Given the description of an element on the screen output the (x, y) to click on. 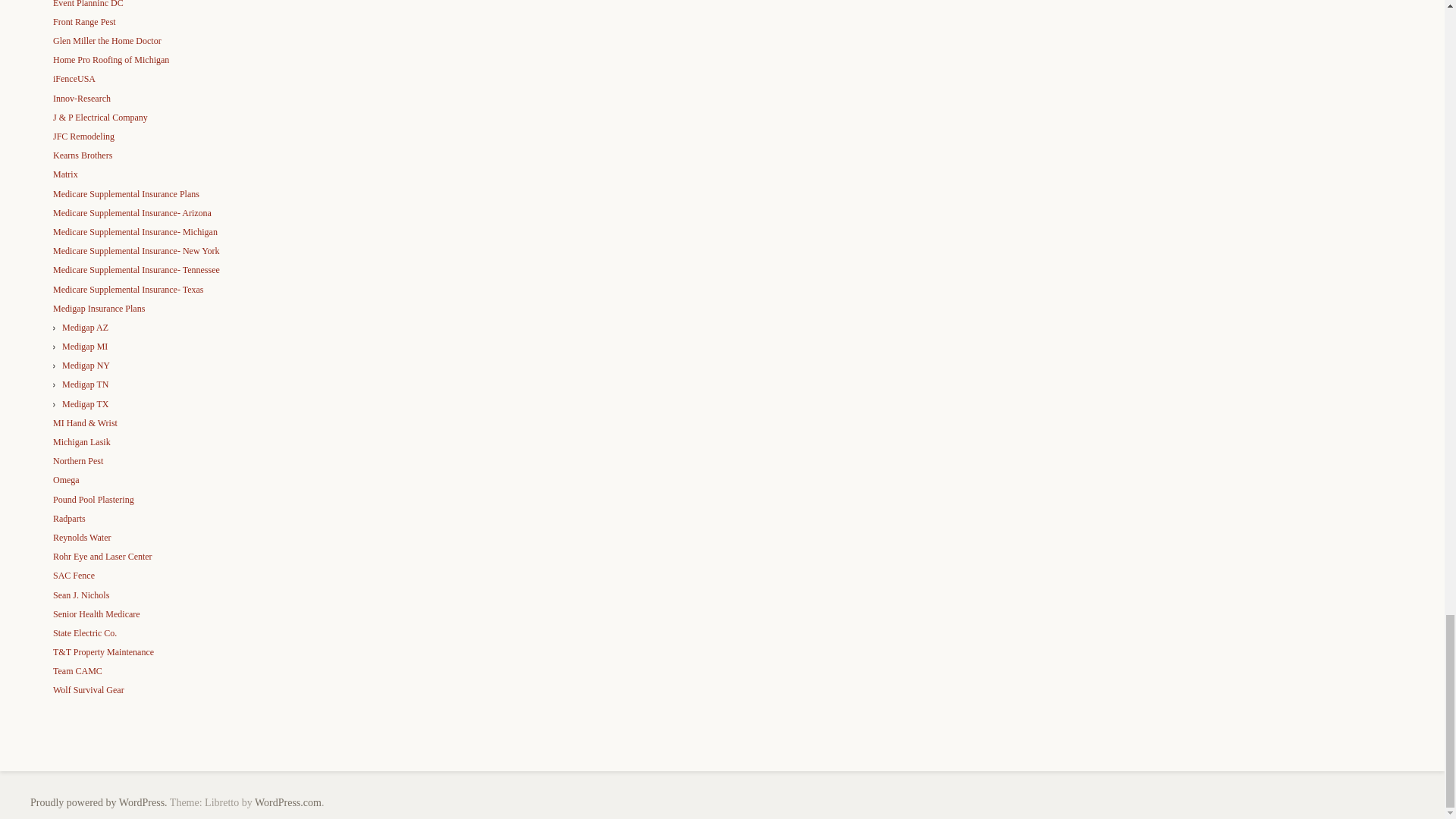
Event Planninc DC (87, 4)
Kearns Brothers (82, 154)
Home Pro Roofing of Michigan (110, 59)
JFC Remodeling (83, 136)
Innov-Research (81, 98)
Medicare Supplemental Insurance- Arizona (131, 213)
Matrix (65, 173)
Glen Miller the Home Doctor (106, 40)
iFenceUSA (74, 78)
Medicare Supplemental Insurance- Michigan (134, 231)
Front Range Pest (84, 21)
Medicare Supplemental Insurance Plans (125, 194)
